Given the description of an element on the screen output the (x, y) to click on. 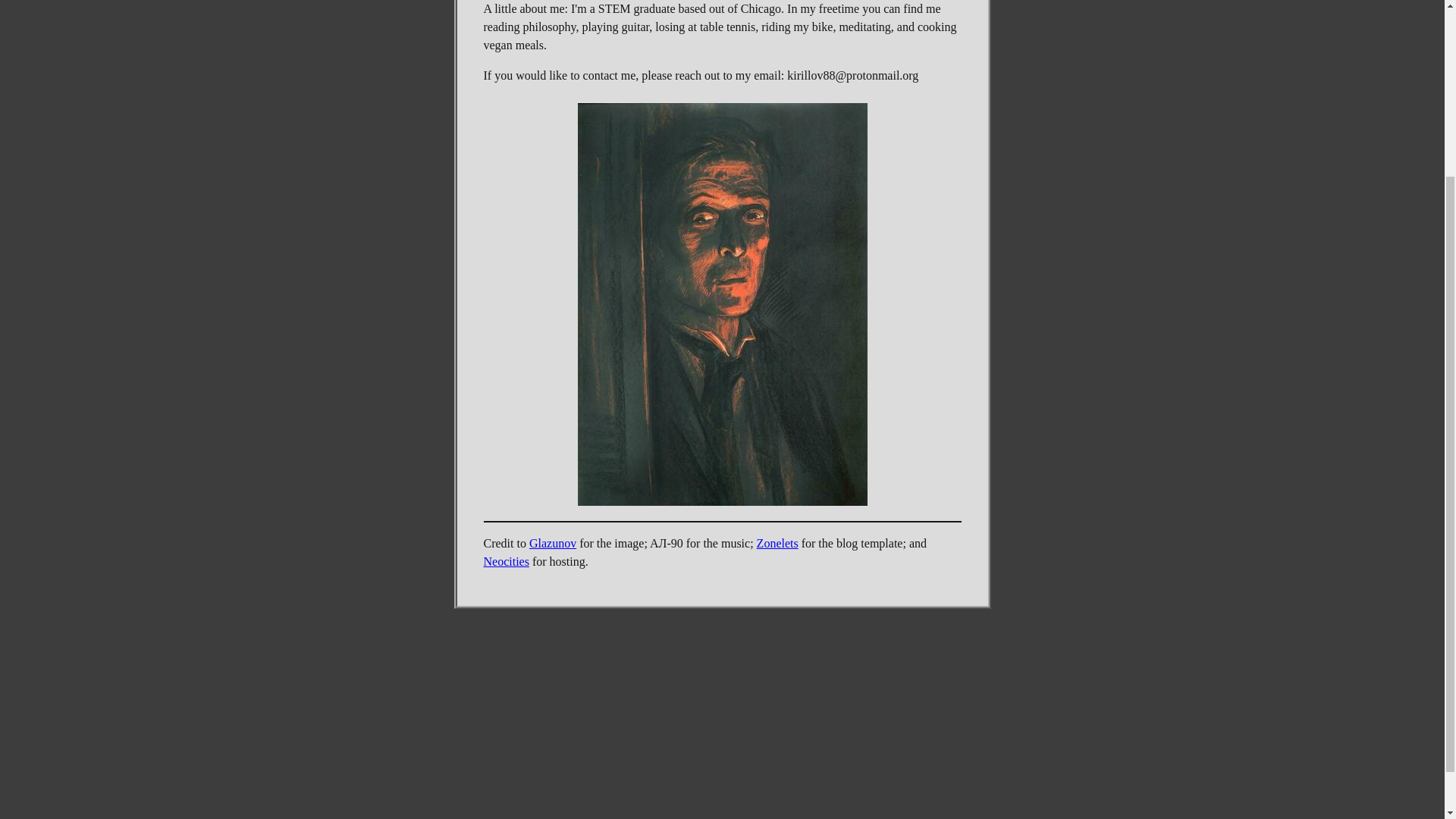
Zonelets (777, 543)
YouTube video player (721, 673)
Glazunov (552, 543)
Neocities (506, 561)
